Given the description of an element on the screen output the (x, y) to click on. 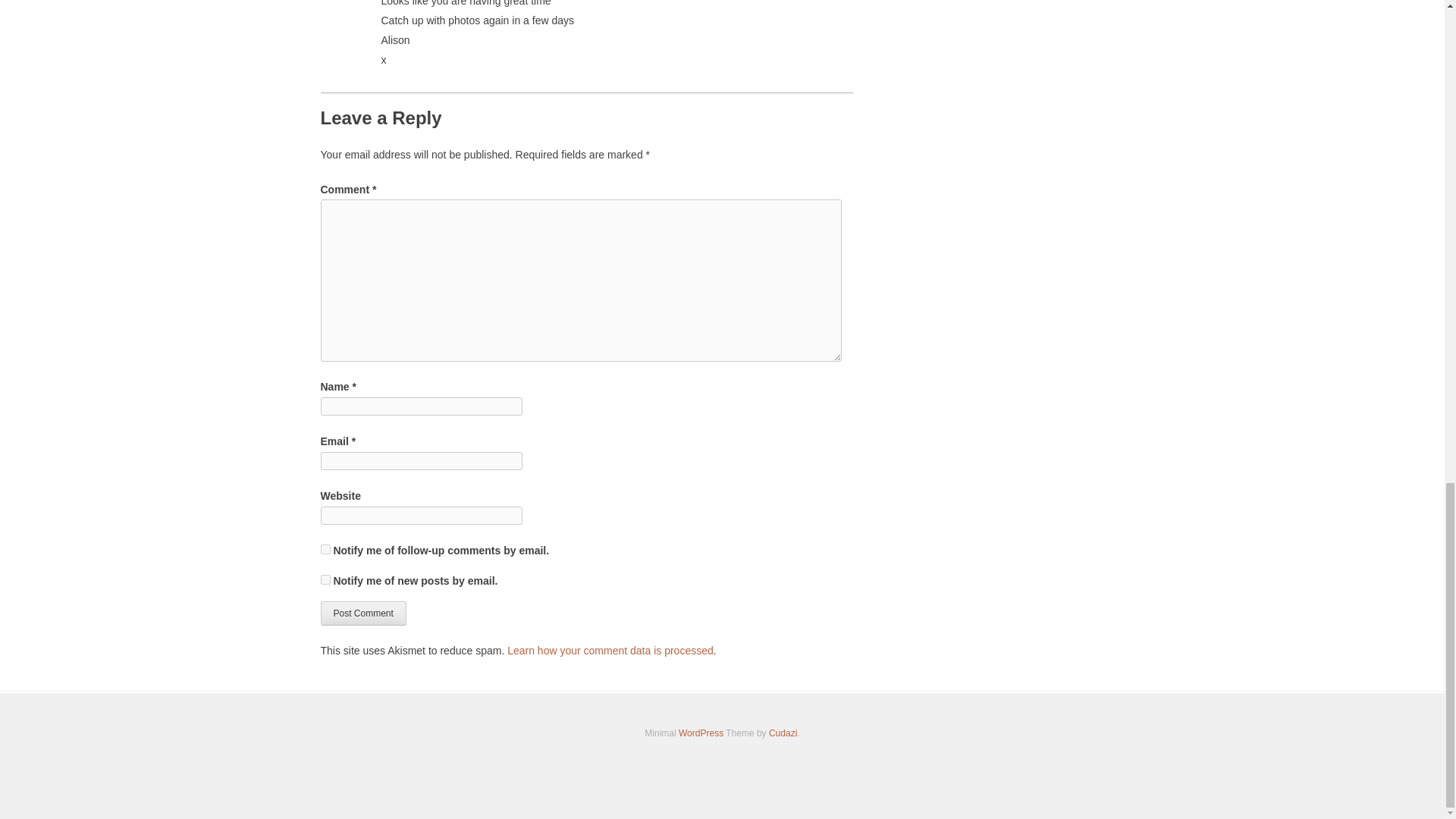
Learn how your comment data is processed (609, 650)
Cudazi (782, 733)
WordPress (700, 733)
Post Comment (363, 613)
subscribe (325, 549)
subscribe (325, 579)
Post Comment (363, 613)
